Given the description of an element on the screen output the (x, y) to click on. 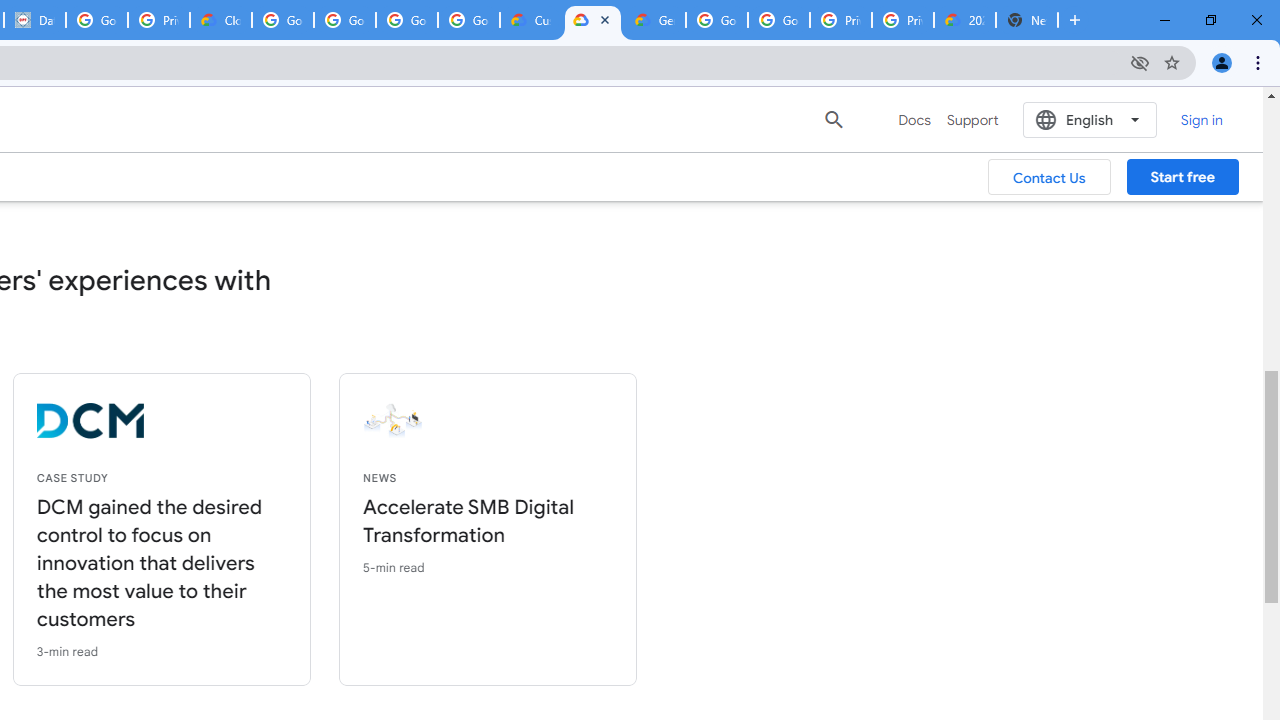
Contact Us (1049, 177)
Support (972, 119)
employees connected through the cloud illustration (541, 421)
Google Cloud Platform (716, 20)
Gemini for Business and Developers | Google Cloud (654, 20)
Google Workspace - Specific Terms (468, 20)
Google Cloud Platform (778, 20)
Enhanced Support | Google Cloud (592, 20)
